Given the description of an element on the screen output the (x, y) to click on. 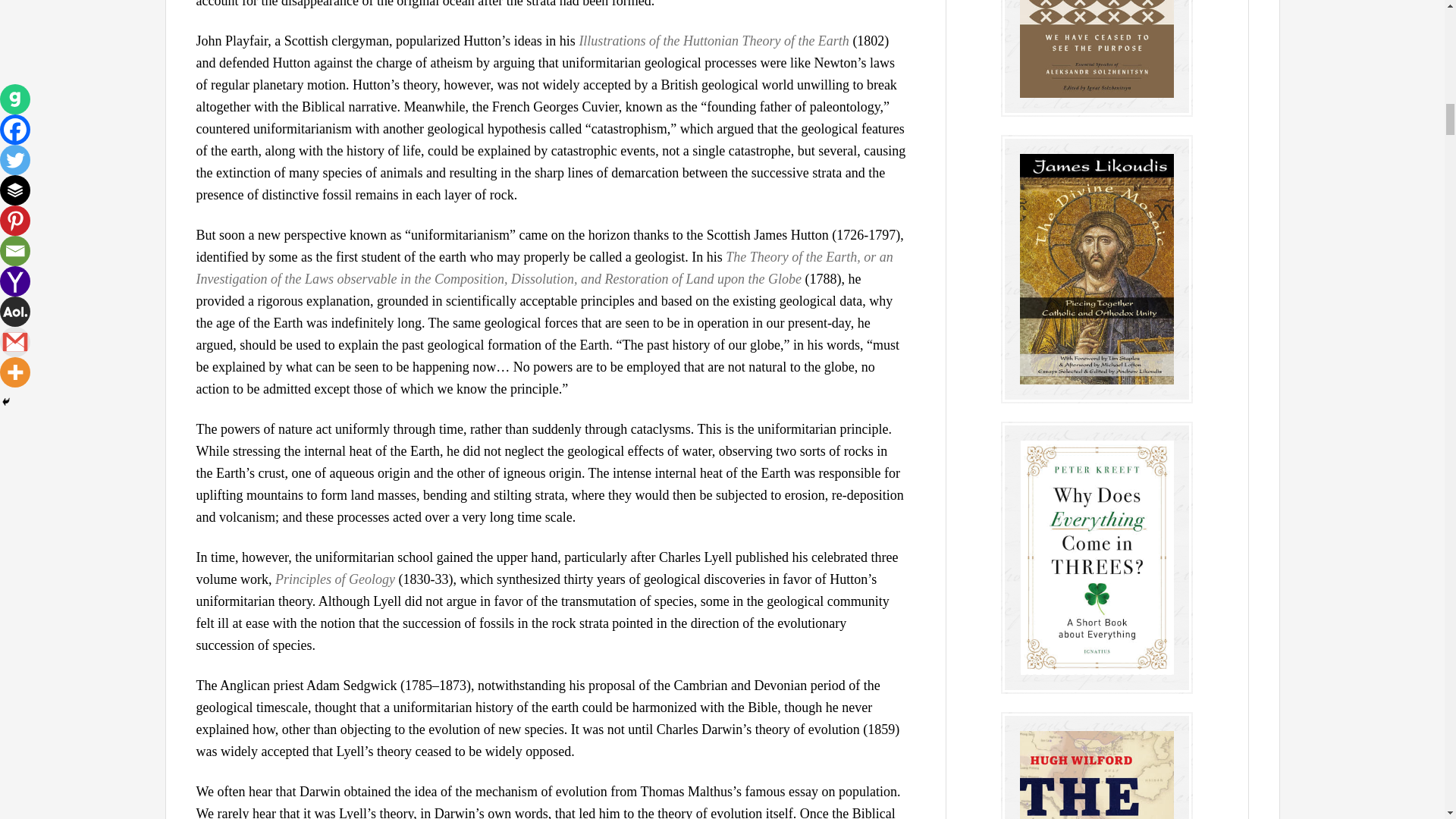
Principles of Geology (334, 579)
Illustrations of the Huttonian Theory of the Earth (713, 40)
